Given the description of an element on the screen output the (x, y) to click on. 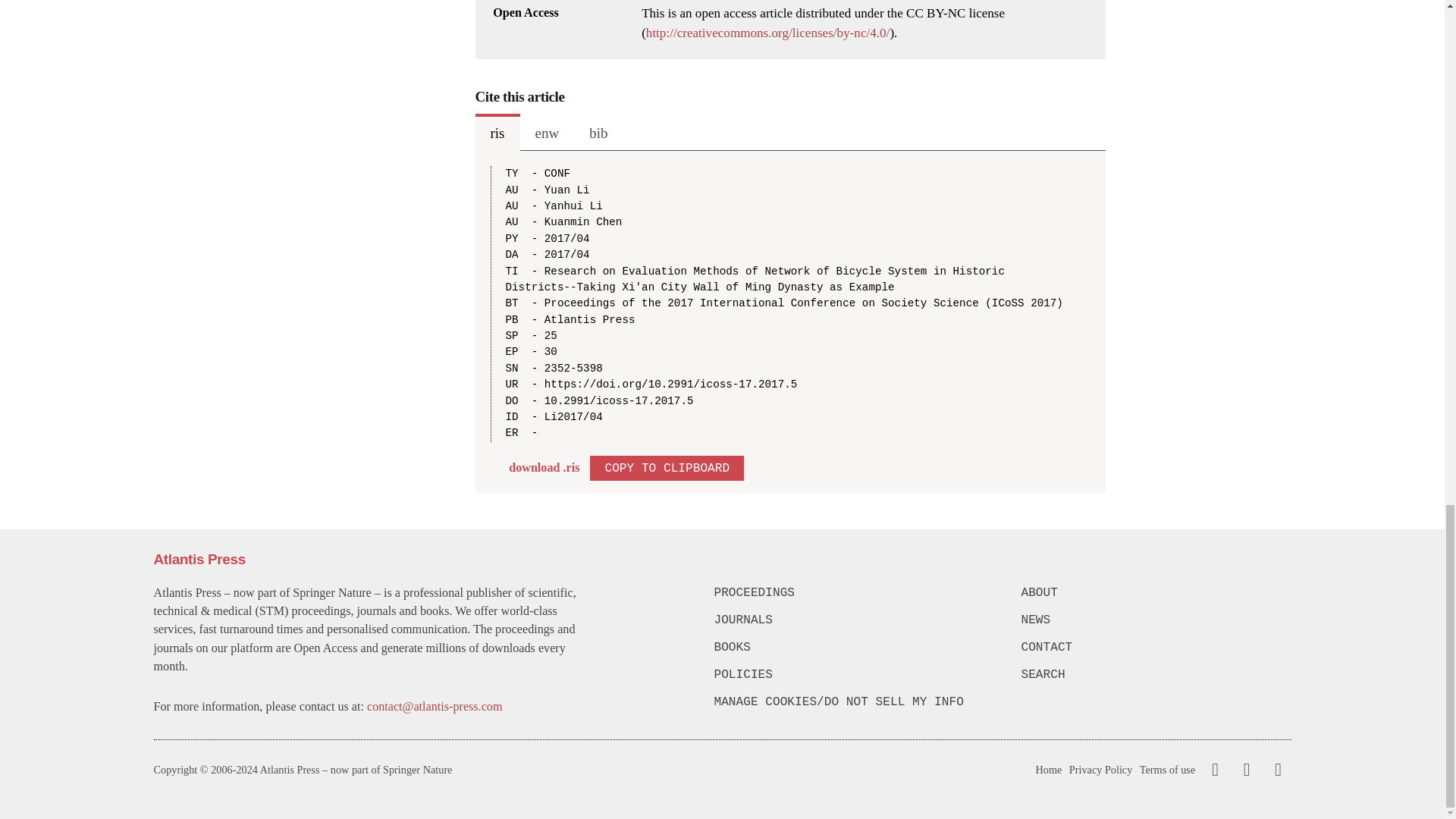
ris (496, 132)
NEWS (1155, 620)
Atlantis Press (198, 559)
PROCEEDINGS (849, 592)
enw (547, 132)
download .ris (543, 467)
BOOKS (849, 647)
bib (598, 132)
JOURNALS (849, 620)
ABOUT (1155, 592)
